Given the description of an element on the screen output the (x, y) to click on. 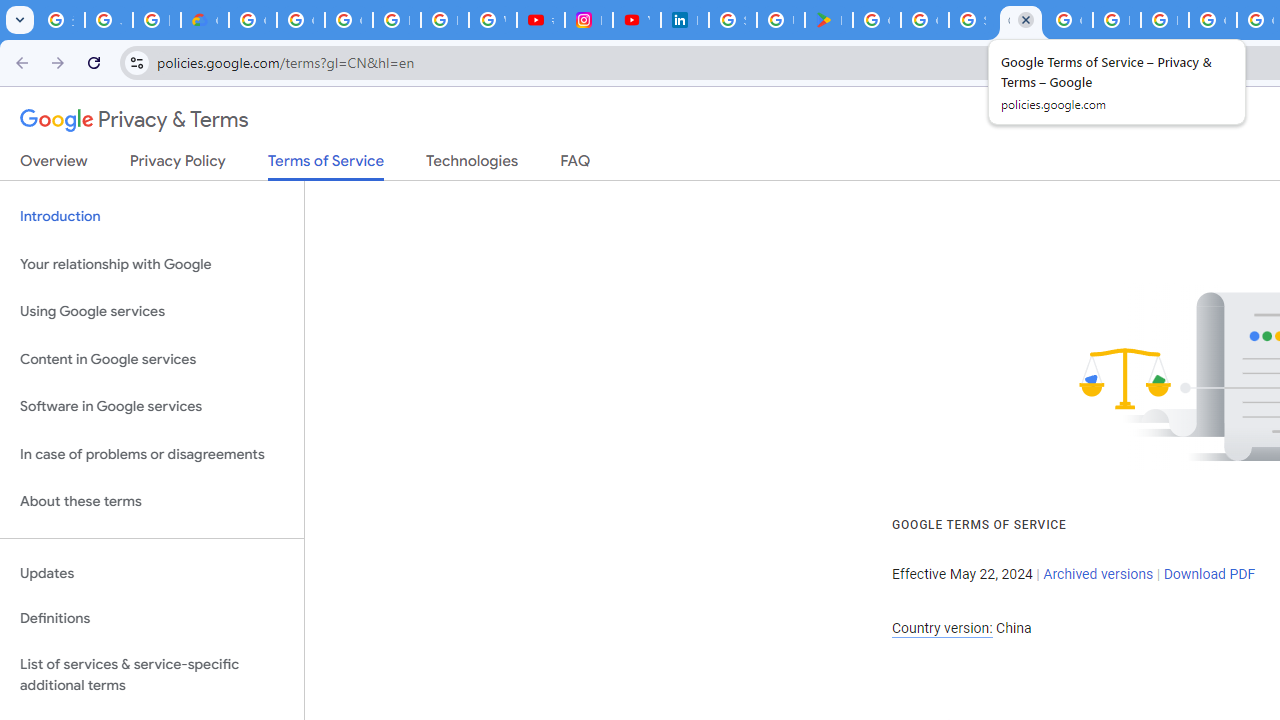
Software in Google services (152, 407)
Introduction (152, 216)
In case of problems or disagreements (152, 453)
Download PDF (1209, 574)
Privacy Help Center - Policies Help (444, 20)
Your relationship with Google (152, 263)
